Given the description of an element on the screen output the (x, y) to click on. 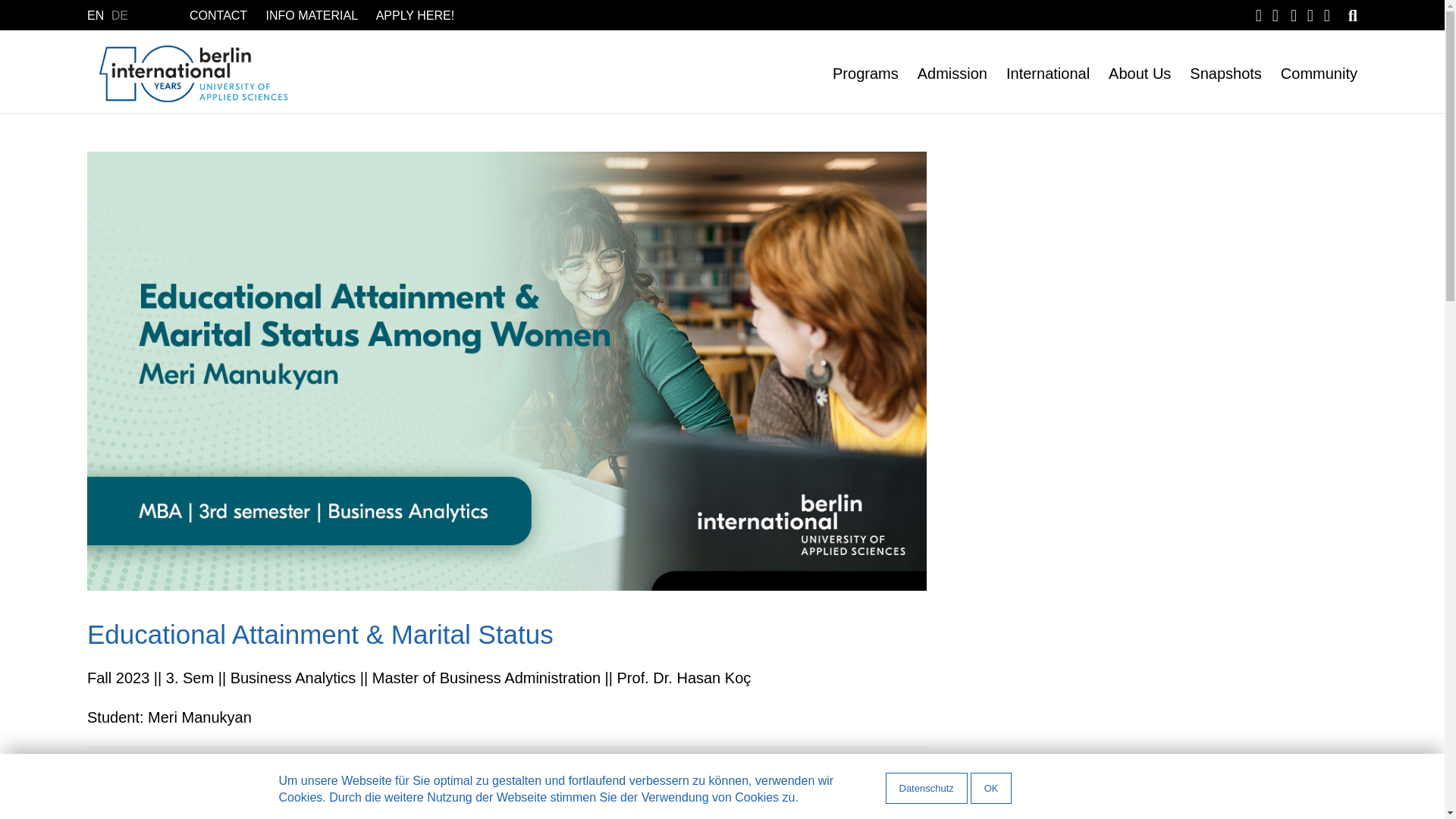
Programs (855, 73)
APPLY HERE! (413, 15)
International (1038, 73)
EN (97, 15)
INFO MATERIAL (310, 15)
DE (120, 15)
Admission (942, 73)
CONTACT (218, 15)
